Given the description of an element on the screen output the (x, y) to click on. 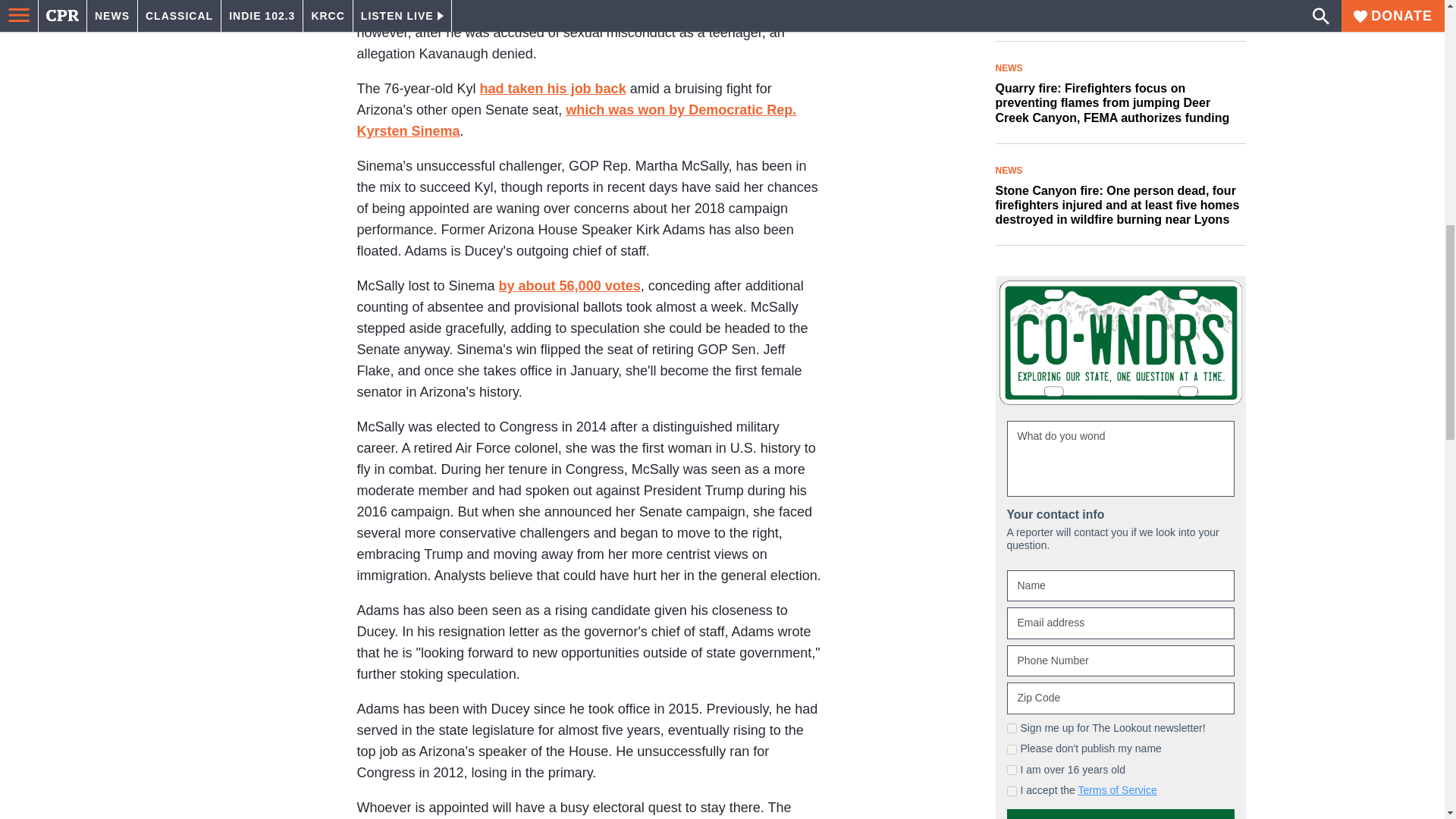
on (1011, 561)
on (1011, 540)
on (1011, 582)
on (1011, 603)
